Given the description of an element on the screen output the (x, y) to click on. 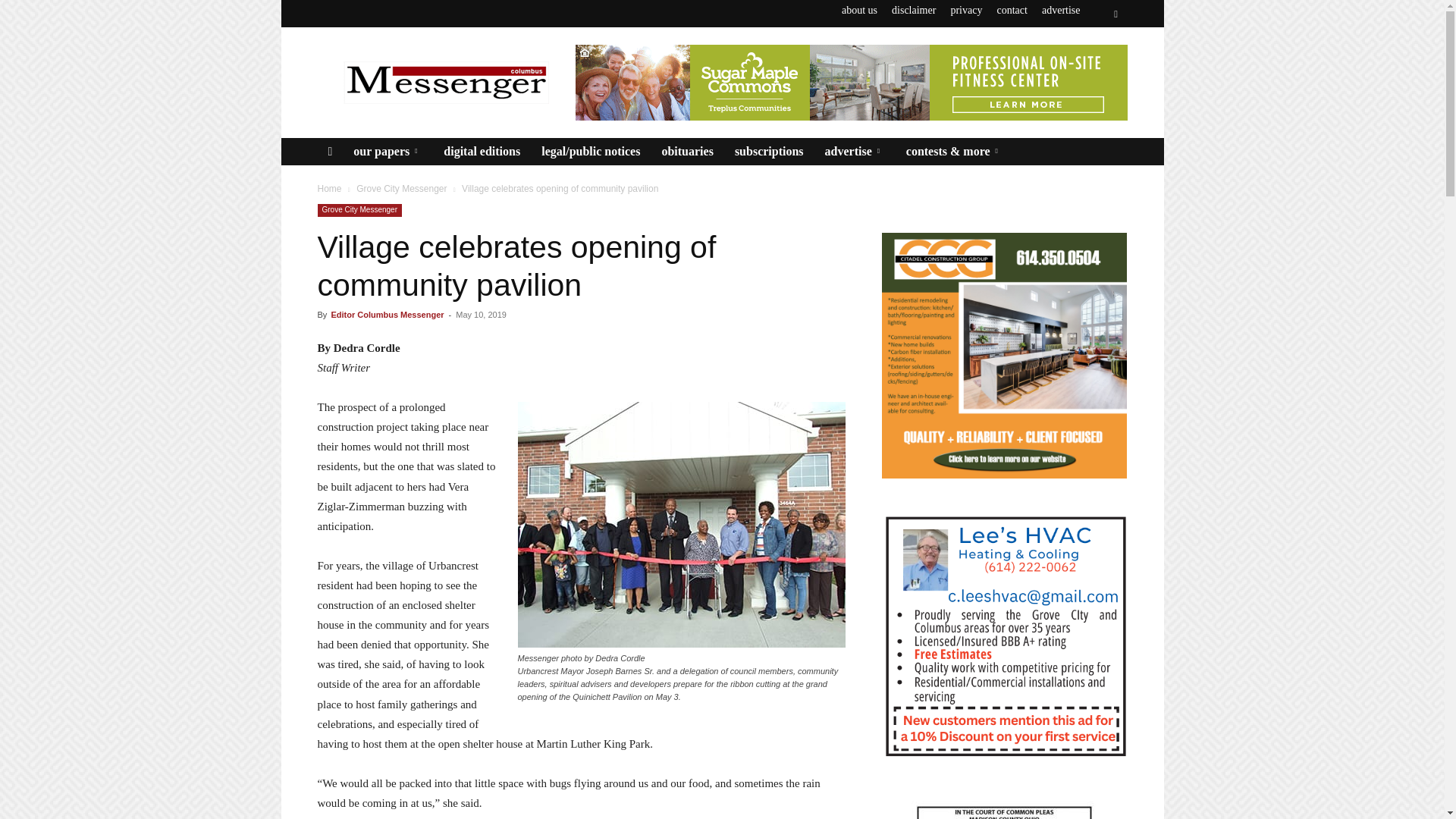
about us (859, 9)
disclaimer (913, 9)
contact (1010, 9)
our papers (387, 151)
Columbus Messenger - Ohios Newspaper (445, 82)
View all posts in Grove City Messenger (401, 188)
advertise (1061, 9)
Search (1085, 70)
privacy (965, 9)
